Given the description of an element on the screen output the (x, y) to click on. 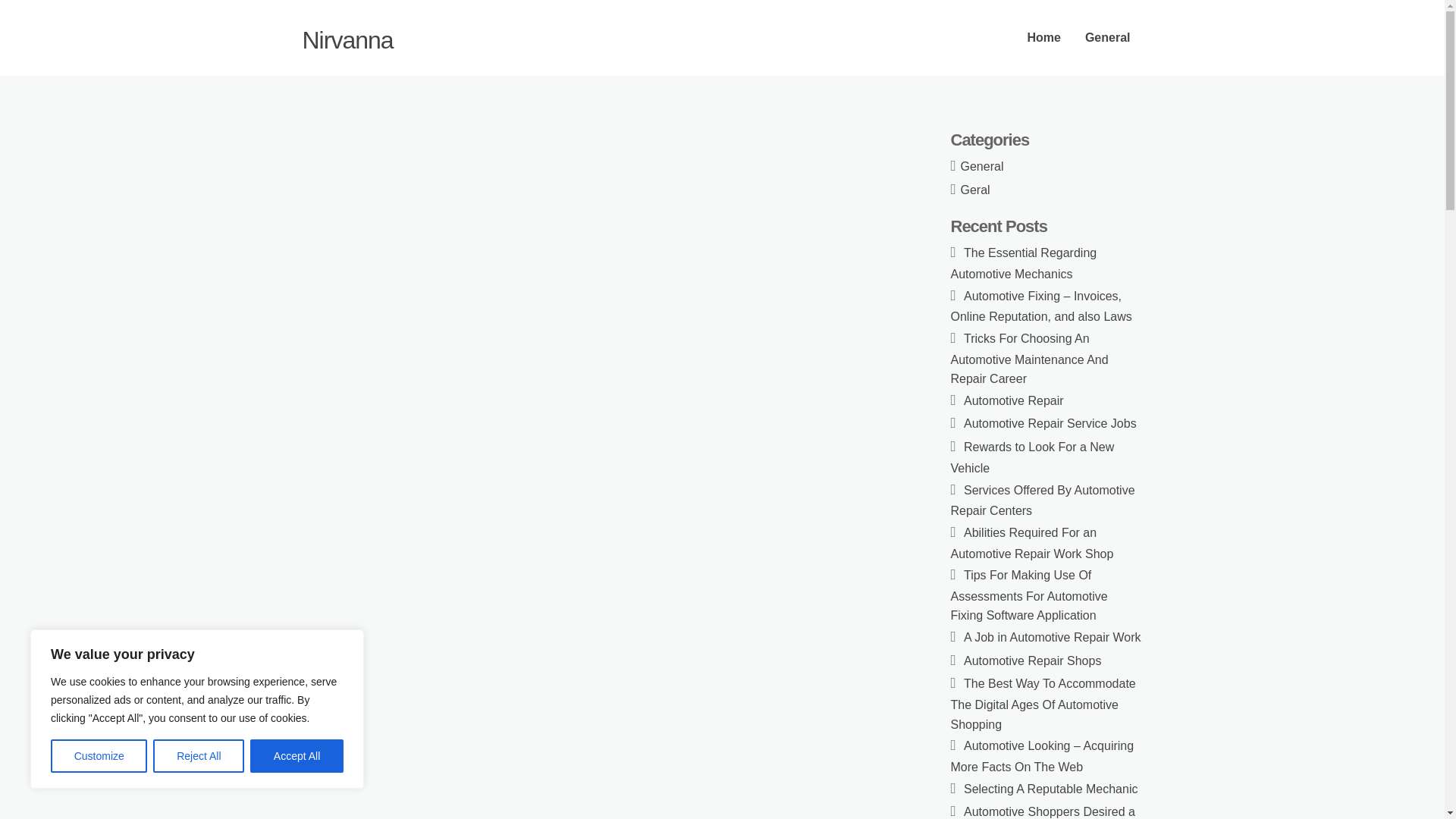
Home (1042, 37)
Nirvanna (347, 39)
General (1107, 37)
The Essential Regarding Automotive Mechanics (1023, 263)
Geral (975, 189)
General (982, 165)
Customize (98, 756)
Accept All (296, 756)
Reject All (198, 756)
